Given the description of an element on the screen output the (x, y) to click on. 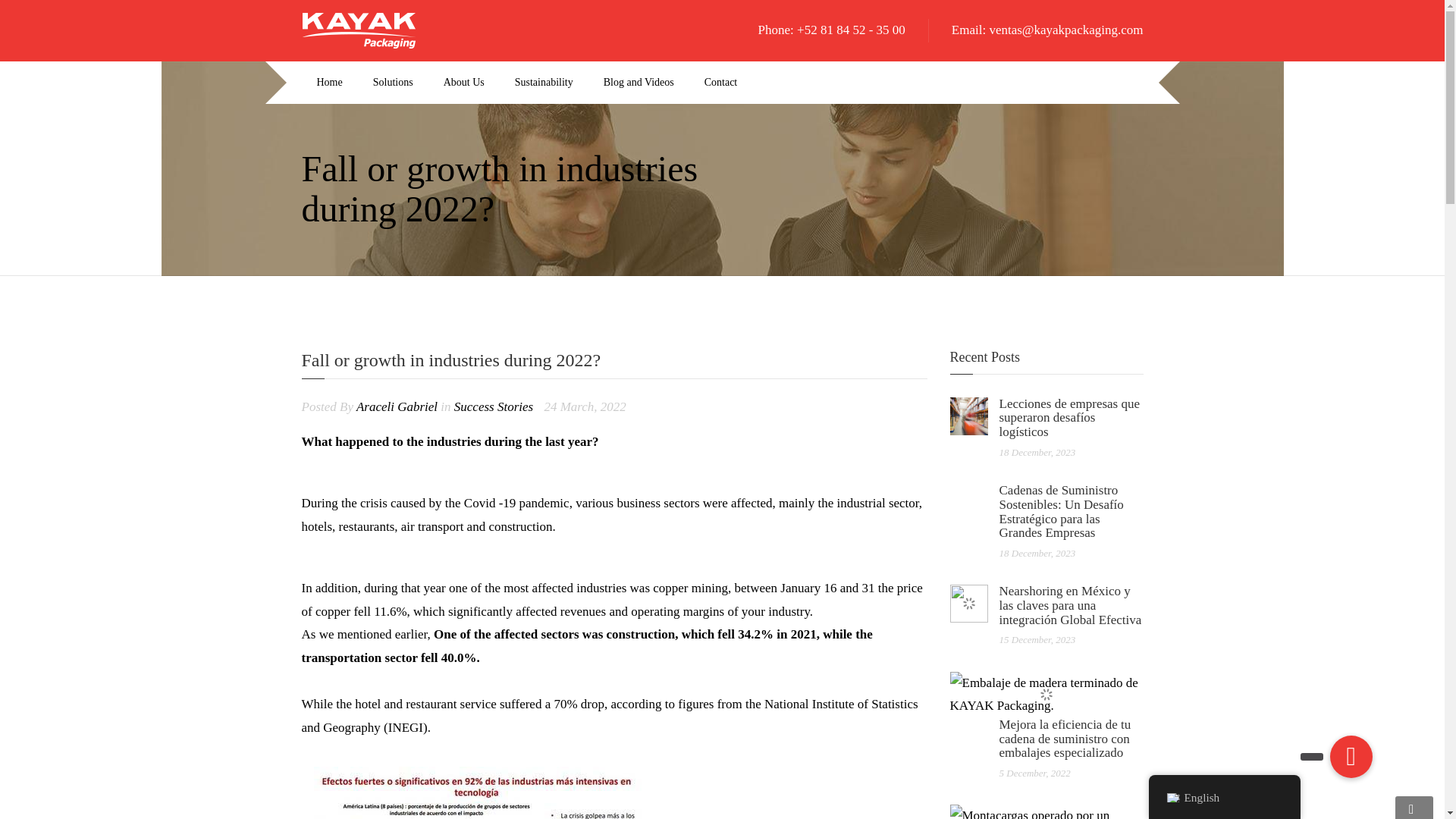
Blog and Videos (638, 82)
English (1172, 797)
Araceli Gabriel (398, 406)
Sustainability (543, 82)
Home (329, 82)
Contact (720, 82)
About Us (463, 82)
Solutions (393, 82)
Success Stories (493, 406)
